Given the description of an element on the screen output the (x, y) to click on. 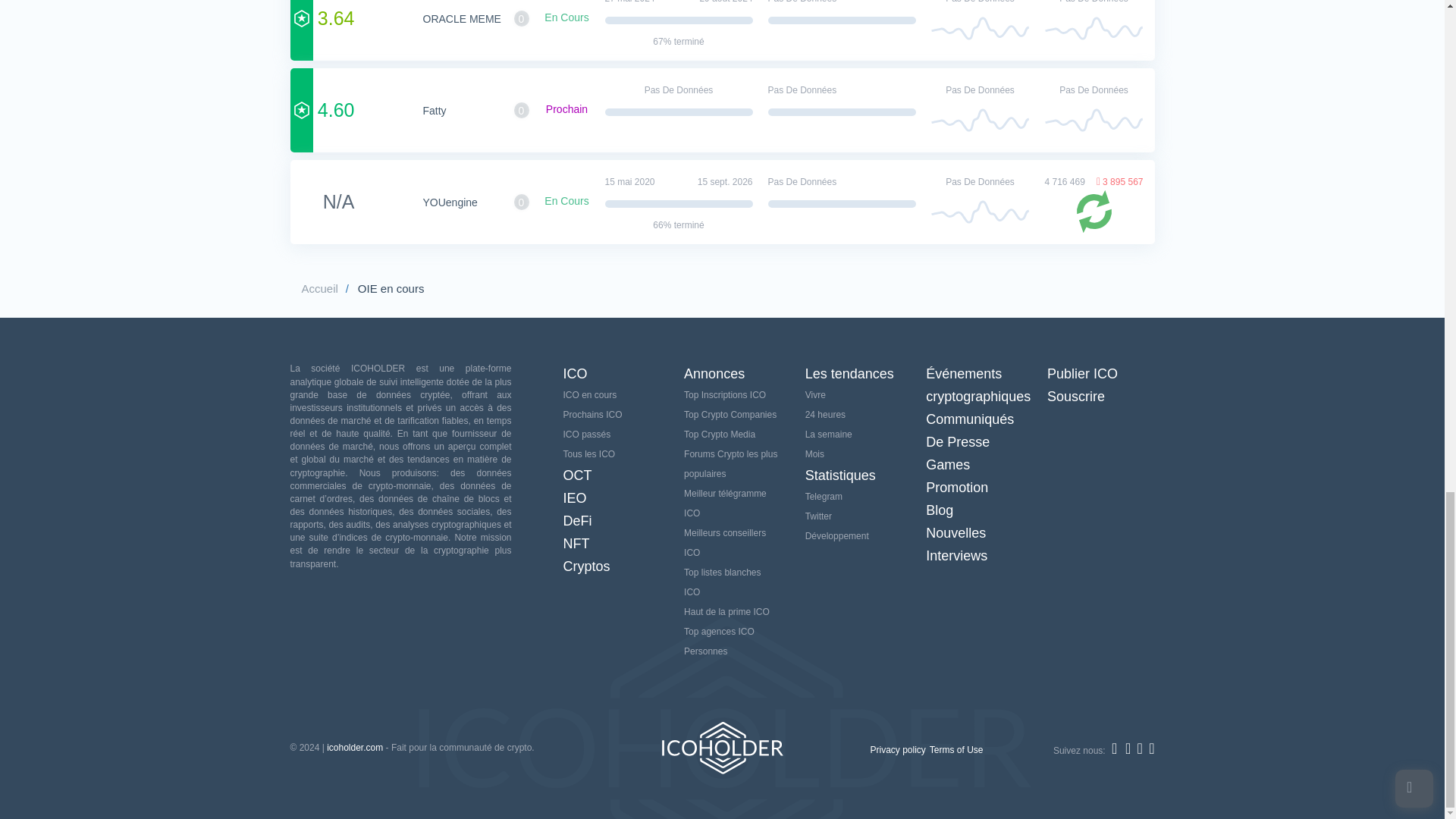
Facebook (1128, 748)
Mail us (1151, 748)
Telegram (1116, 748)
Twitter (1139, 748)
